Given the description of an element on the screen output the (x, y) to click on. 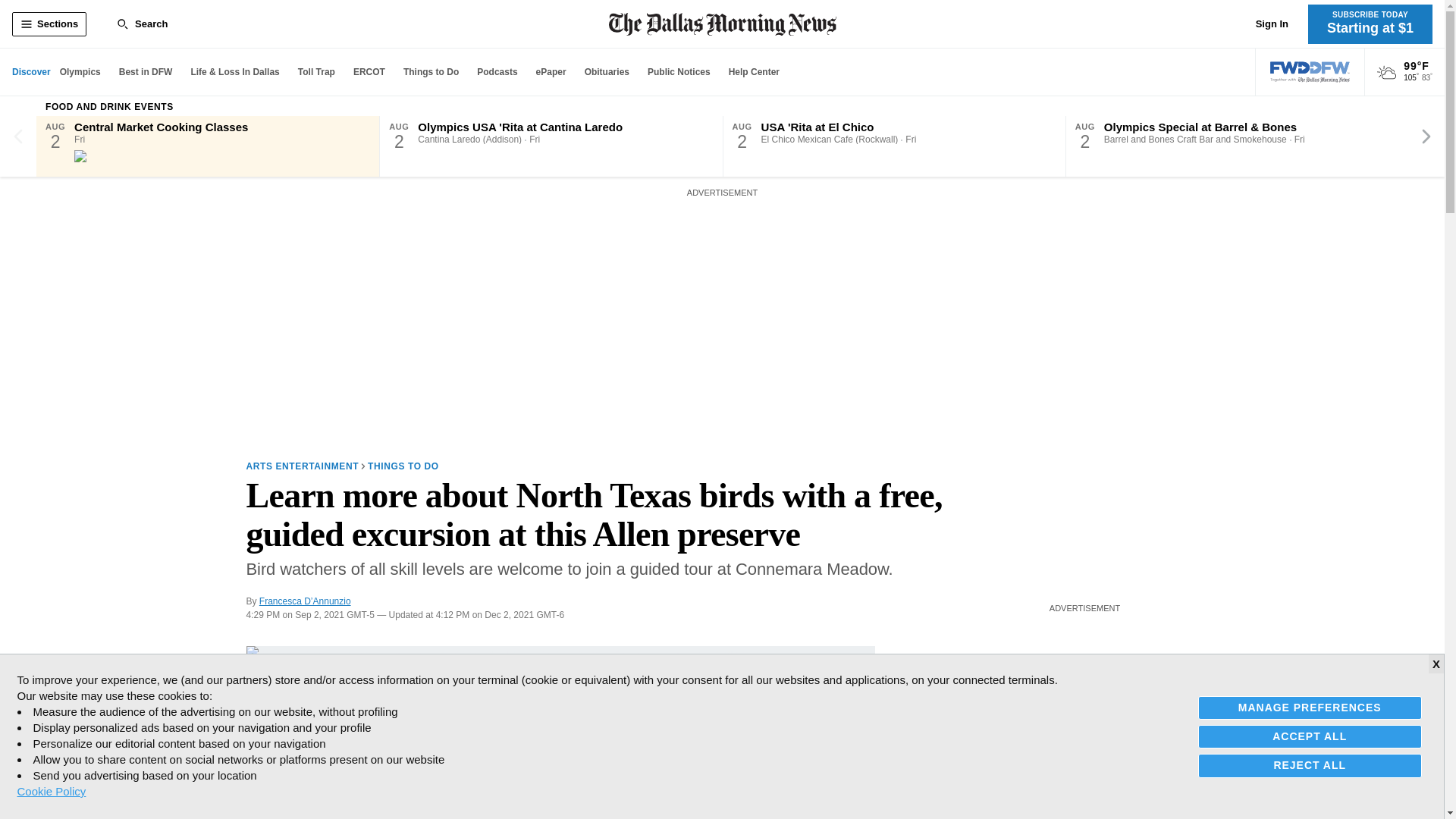
Cookie Policy (50, 790)
MANAGE PREFERENCES (1310, 707)
FWD DFW, Together with The Dallas Morning News (1310, 72)
Broken clouds (1386, 72)
ACCEPT ALL (1310, 736)
REJECT ALL (1310, 765)
